Given the description of an element on the screen output the (x, y) to click on. 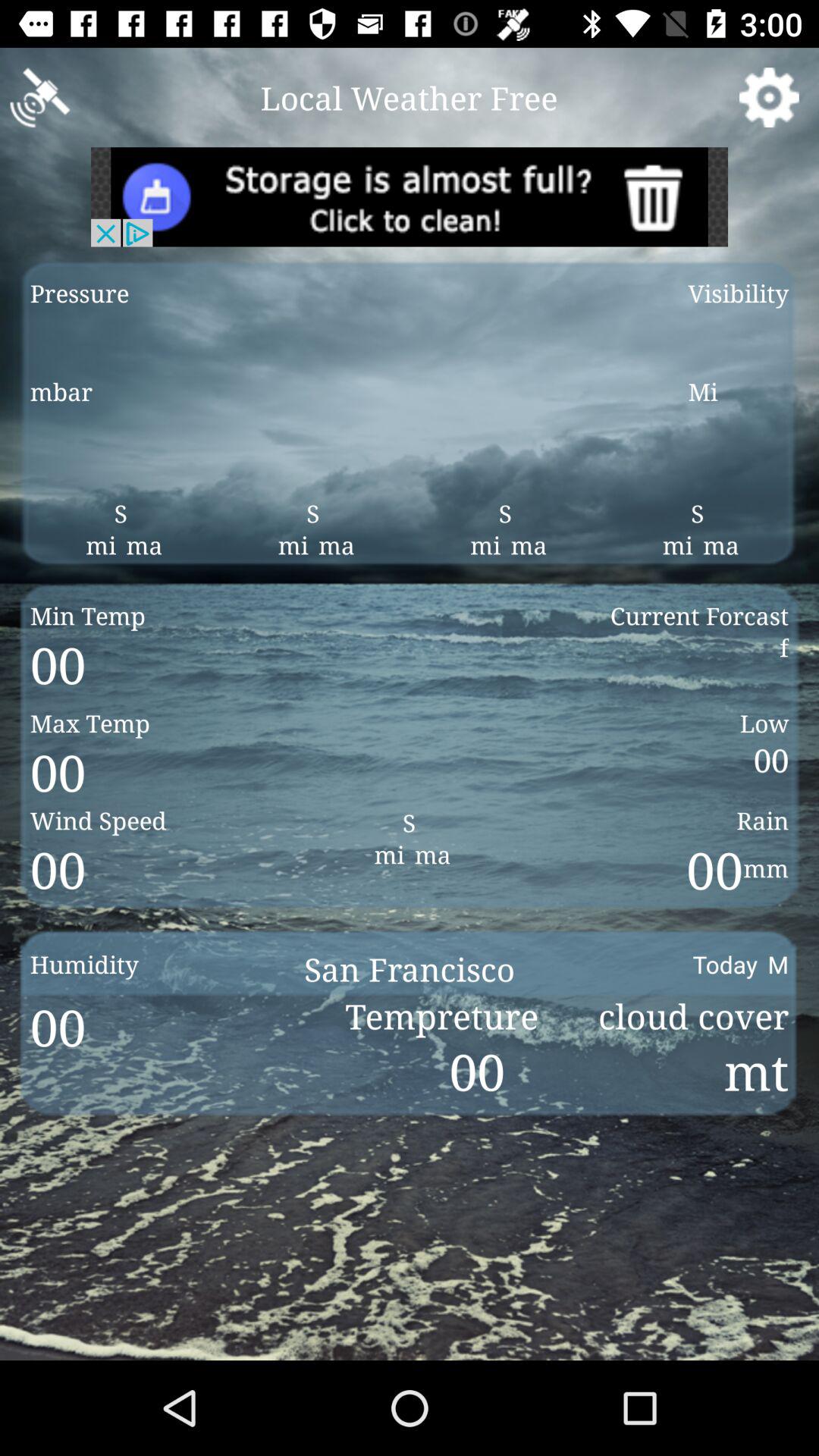
choose item next to the local weather free icon (769, 97)
